Given the description of an element on the screen output the (x, y) to click on. 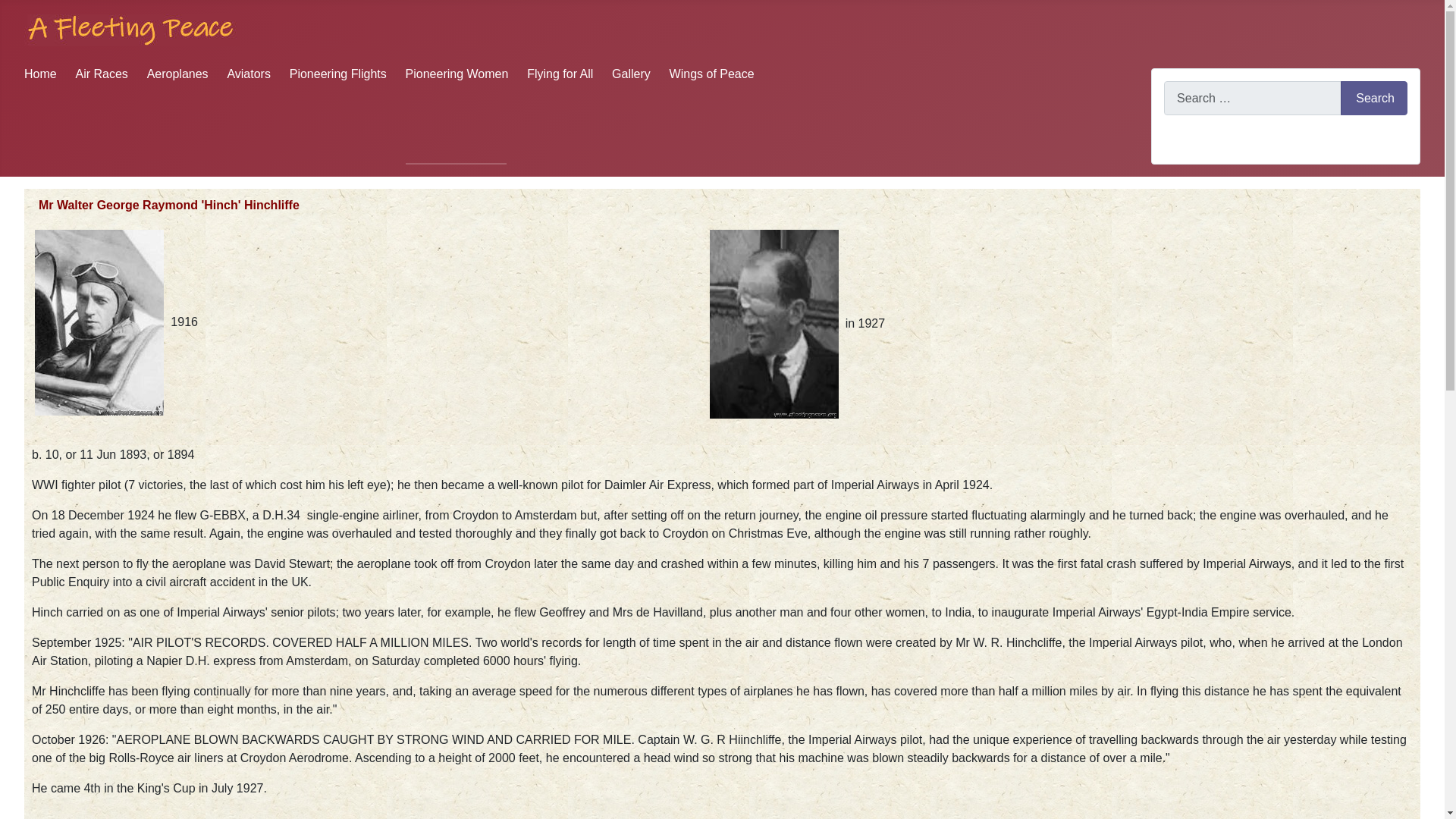
Advanced Search (1211, 141)
Home (40, 73)
Pioneering Women (457, 73)
Aviators (248, 73)
Gallery (630, 73)
Wings of Peace (711, 73)
Aeroplanes (177, 73)
Search (1373, 98)
Pioneering Flights (338, 73)
Air Races (101, 73)
Flying for All (559, 73)
